Given the description of an element on the screen output the (x, y) to click on. 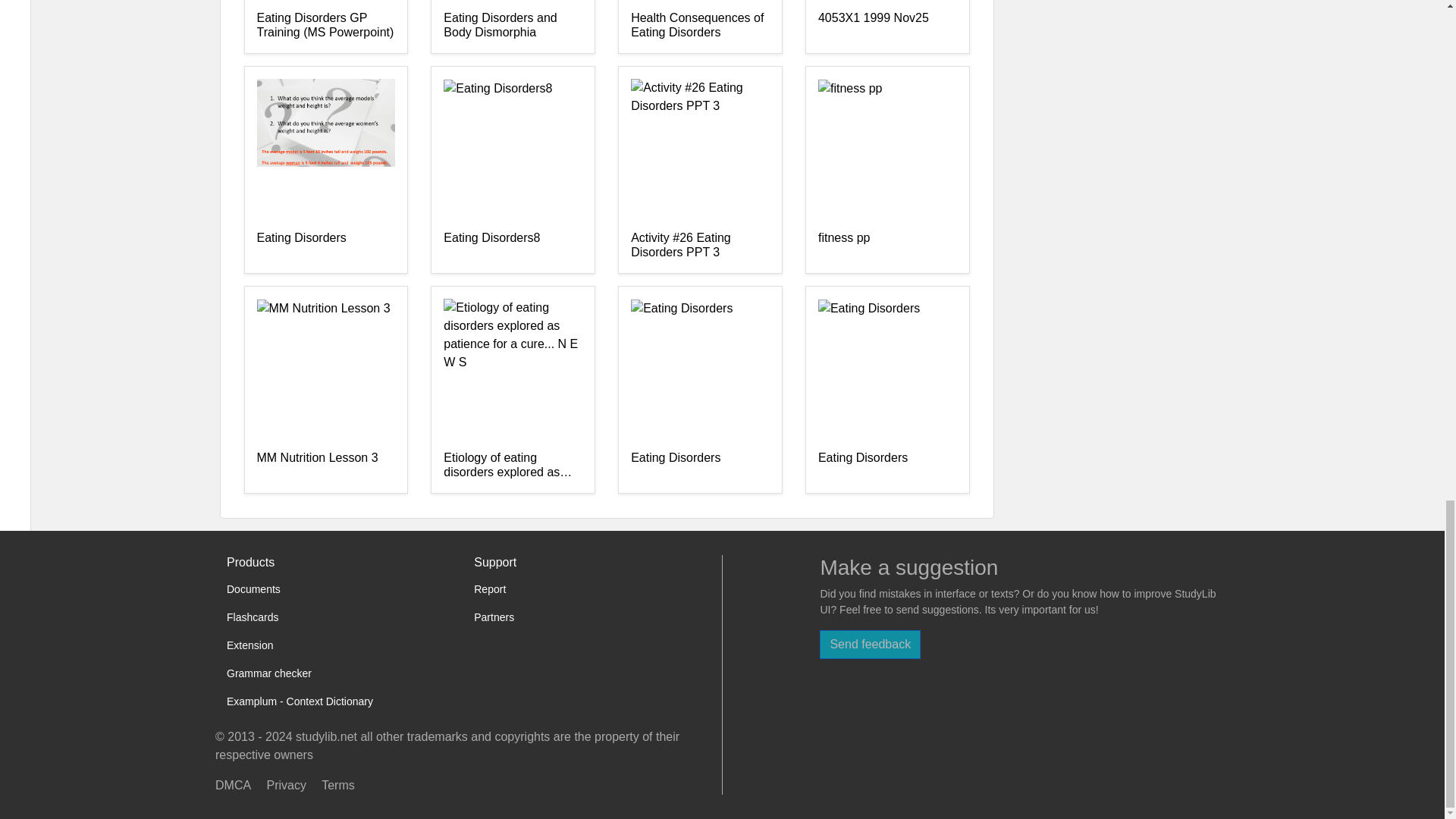
Eating Disorders (887, 465)
Eating Disorders and Body Dismorphia (513, 25)
Eating Disorders (325, 245)
Health Consequences of Eating Disorders (700, 25)
4053X1 1999 Nov25 (887, 25)
Eating Disorders8 (513, 245)
fitness pp (887, 245)
Eating Disorders and Body Dismorphia (513, 25)
MM Nutrition Lesson 3 (325, 465)
4053X1 1999 Nov25 (887, 25)
